Given the description of an element on the screen output the (x, y) to click on. 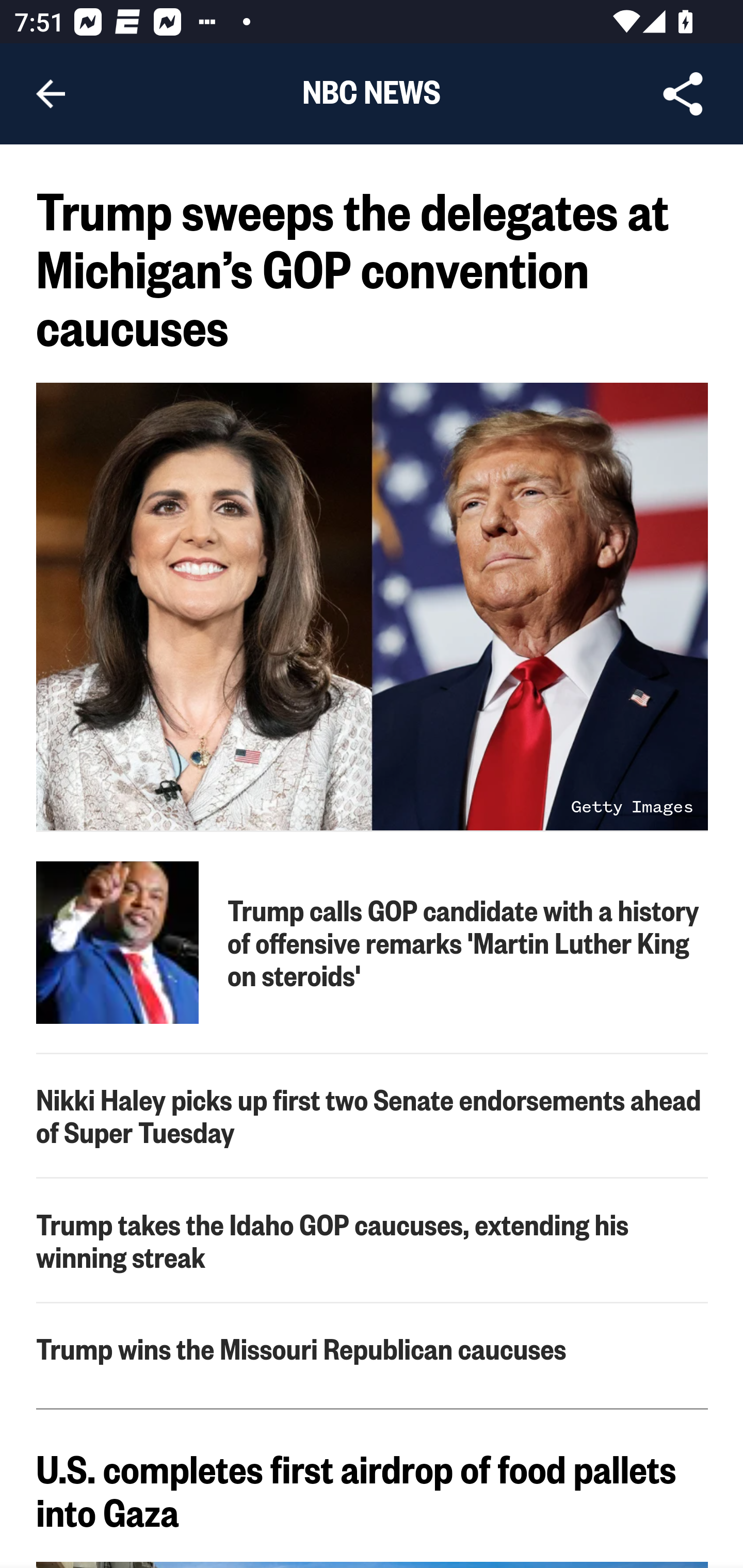
Navigate up (50, 93)
Share Article, button (683, 94)
Trump wins the Missouri Republican caucuses (372, 1348)
